Given the description of an element on the screen output the (x, y) to click on. 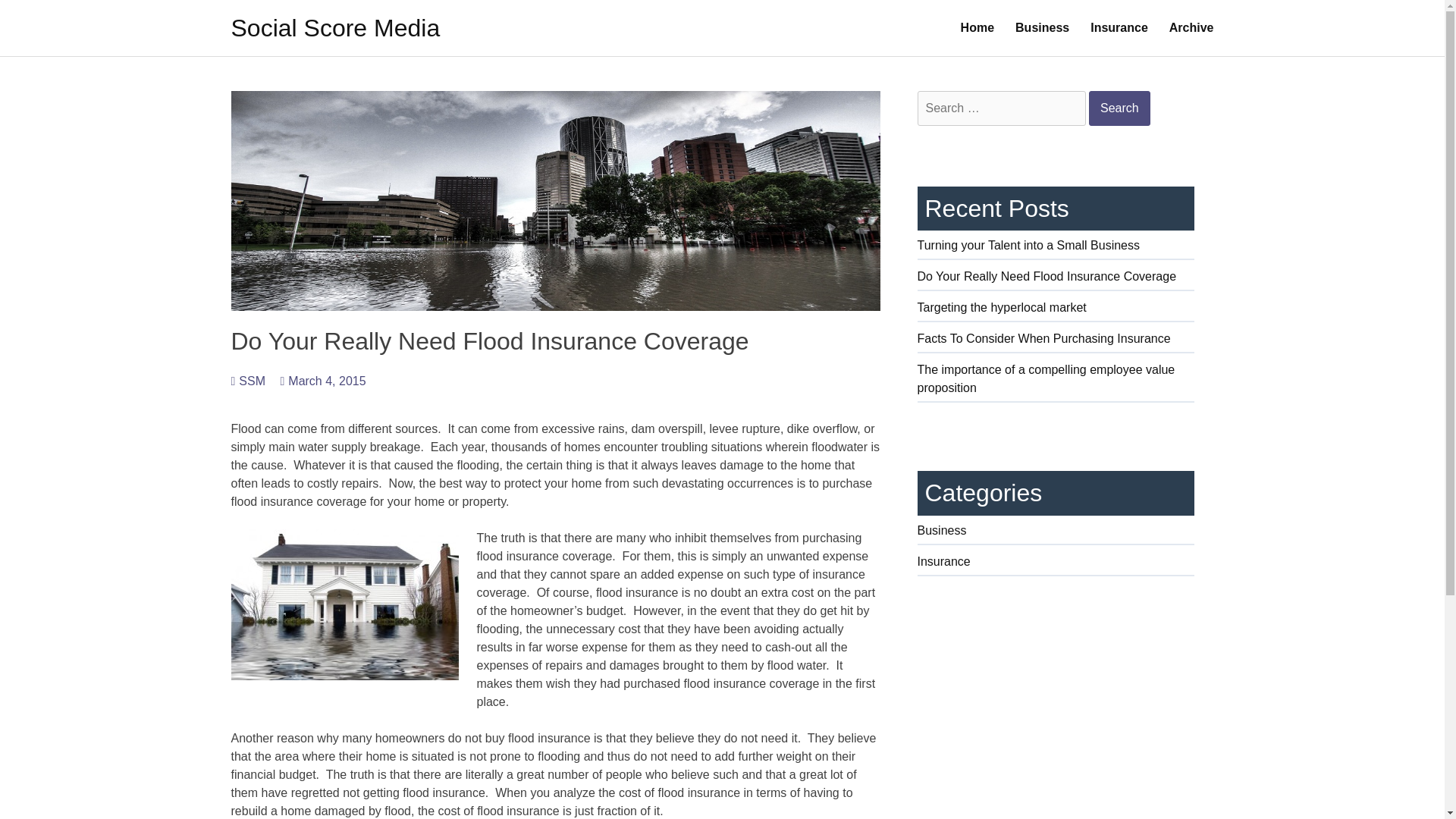
Targeting the hyperlocal market (1056, 310)
Archive (1191, 28)
Business (1042, 28)
Do Your Really Need Flood Insurance Coverage (1056, 279)
Home (977, 28)
Business (1056, 533)
Search (1119, 108)
The importance of a compelling employee value proposition (1056, 381)
Search (1119, 108)
Insurance (1119, 28)
Facts To Consider When Purchasing Insurance (1056, 341)
SSM (247, 380)
Insurance (1056, 564)
Social Score Media (334, 27)
Turning your Talent into a Small Business (1056, 248)
